Given the description of an element on the screen output the (x, y) to click on. 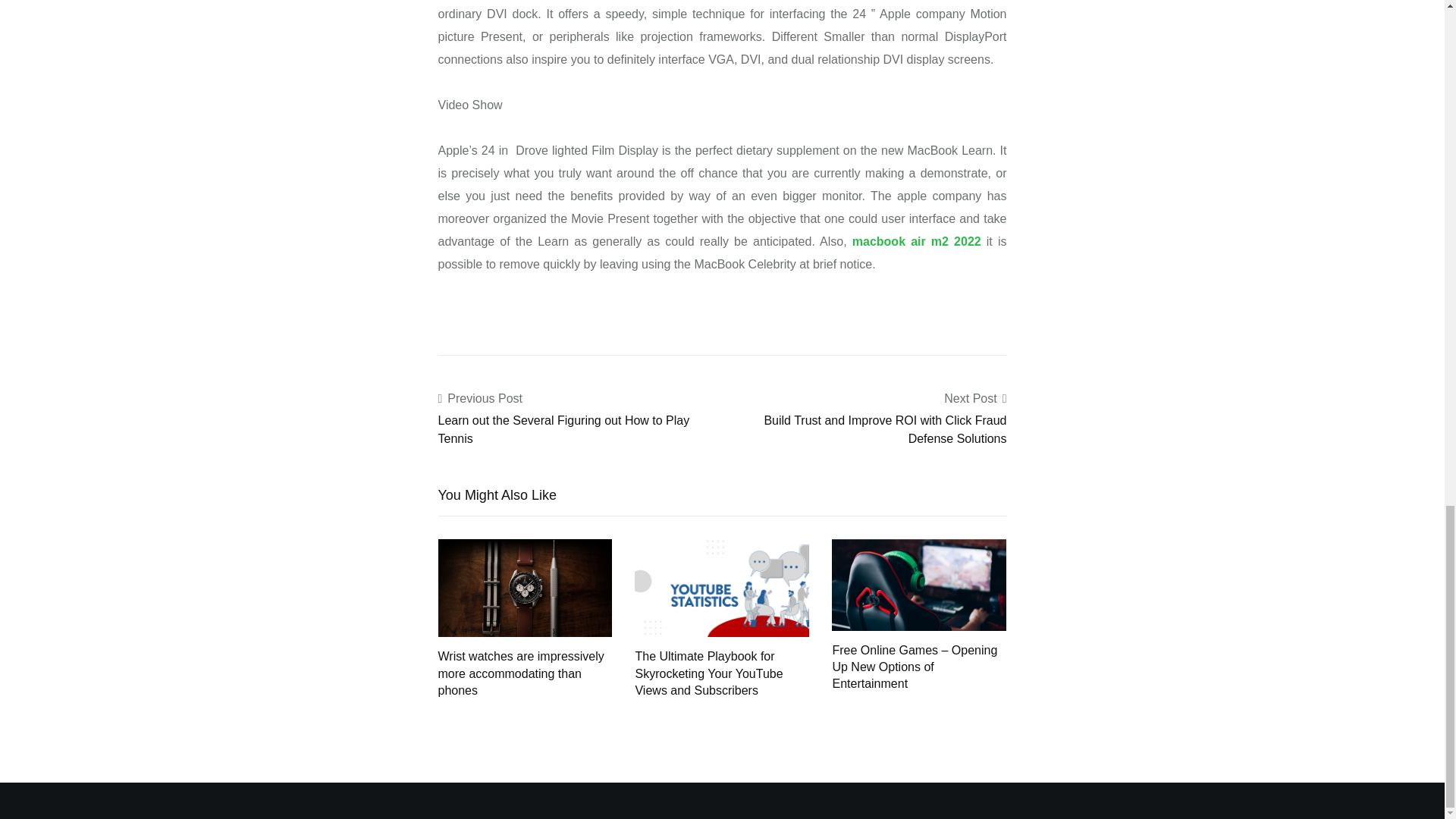
Learn out the Several Figuring out How to Play Tennis (564, 429)
macbook air m2 2022 (916, 241)
